Given the description of an element on the screen output the (x, y) to click on. 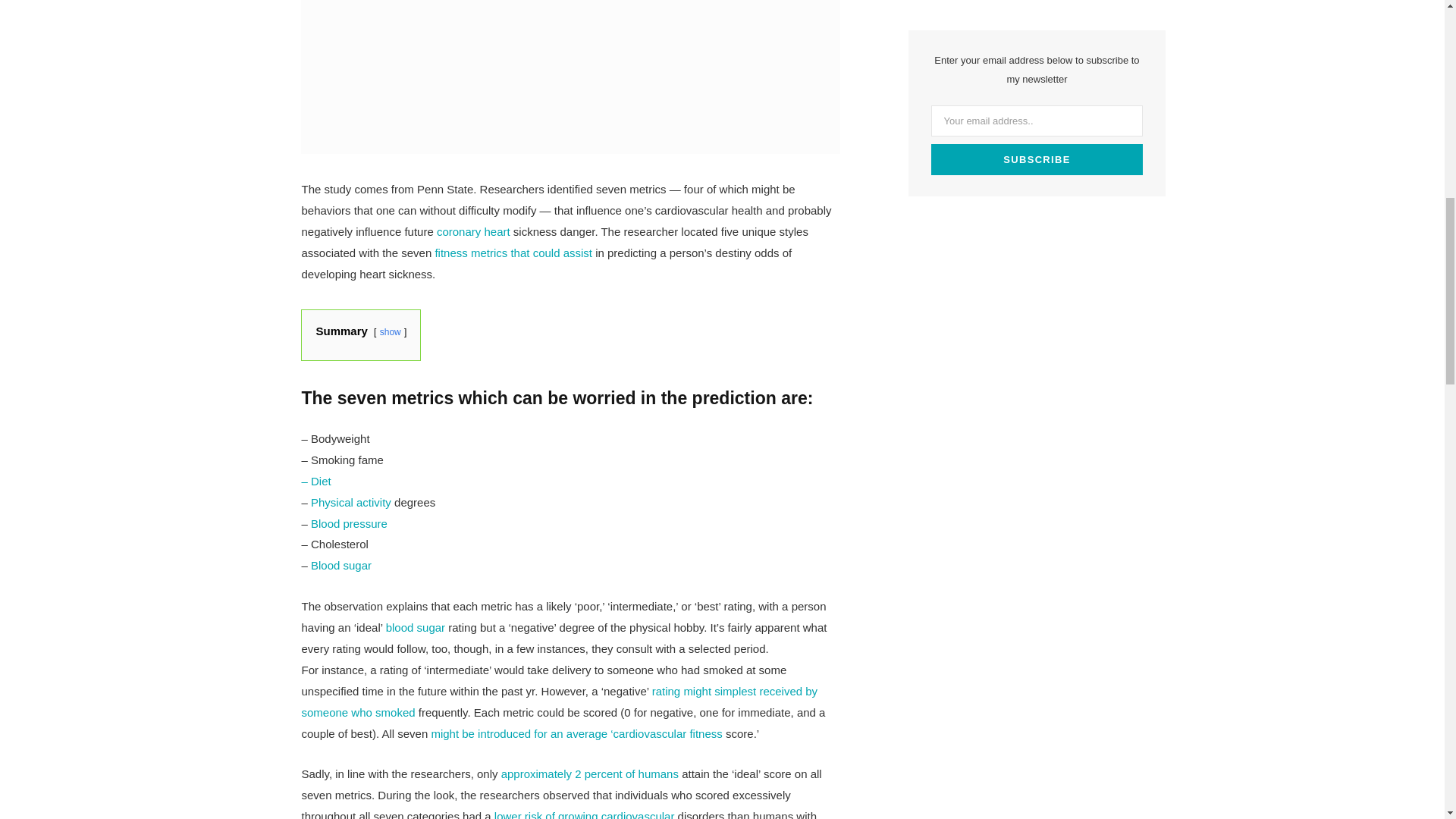
Subscribe (1036, 159)
